Given the description of an element on the screen output the (x, y) to click on. 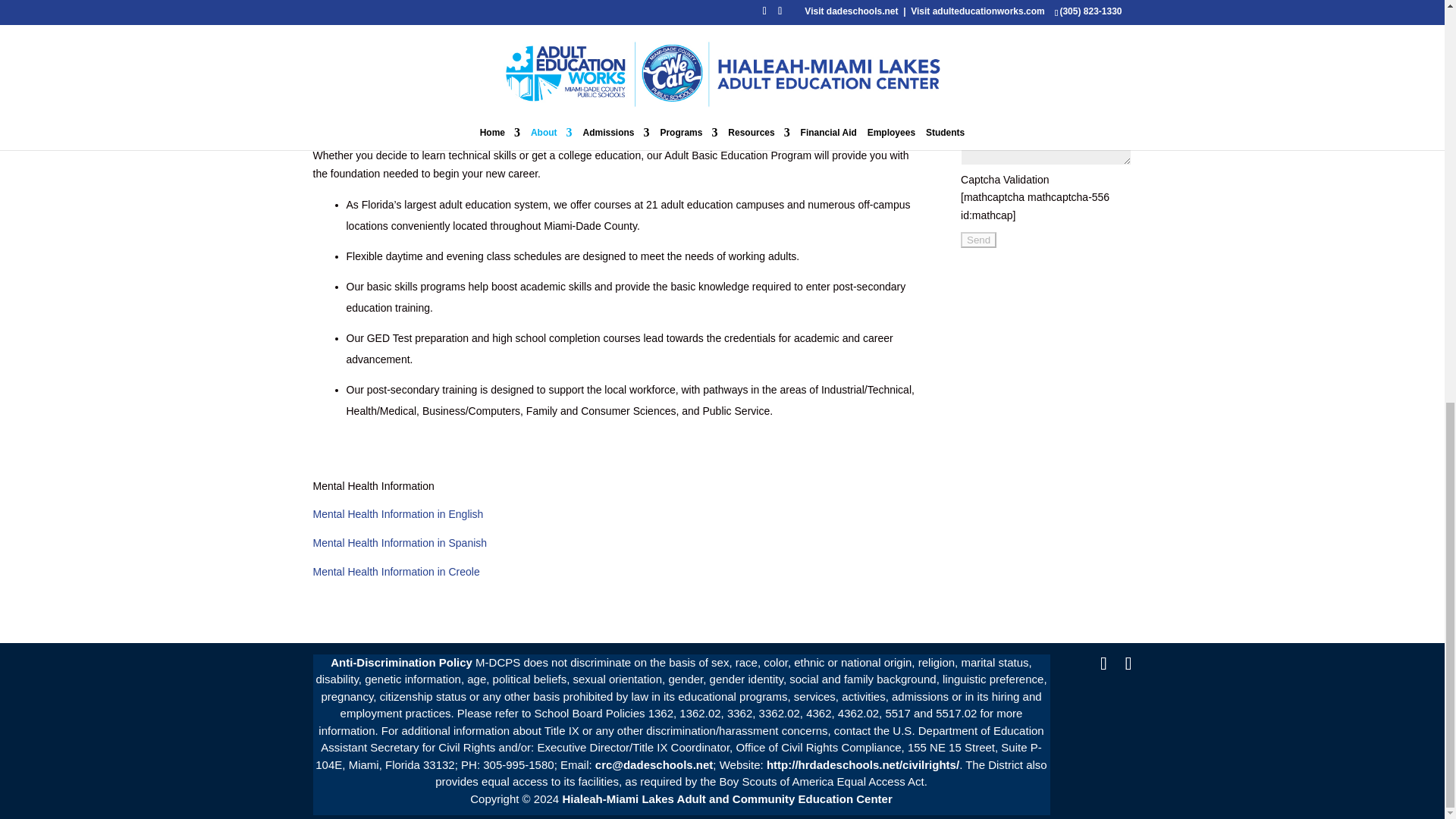
Send (977, 239)
